Given the description of an element on the screen output the (x, y) to click on. 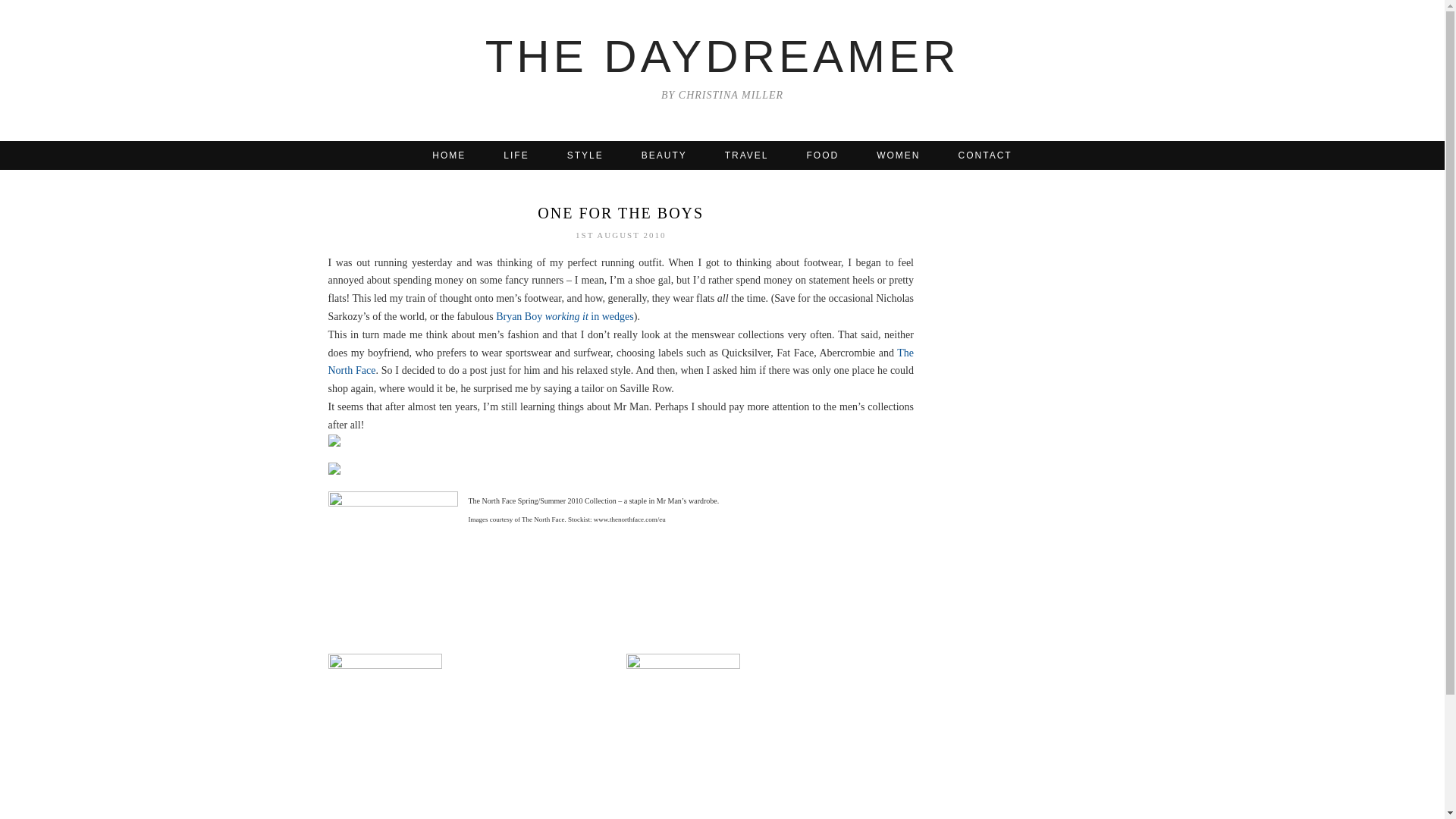
TRAVEL (746, 154)
BEAUTY (664, 154)
FOOD (823, 154)
CONTACT (984, 154)
STYLE (585, 154)
The Daydreamer (721, 56)
LIFE (515, 154)
Bryan Boy working it in wedges (564, 316)
WOMEN (898, 154)
THE DAYDREAMER (721, 56)
